Given the description of an element on the screen output the (x, y) to click on. 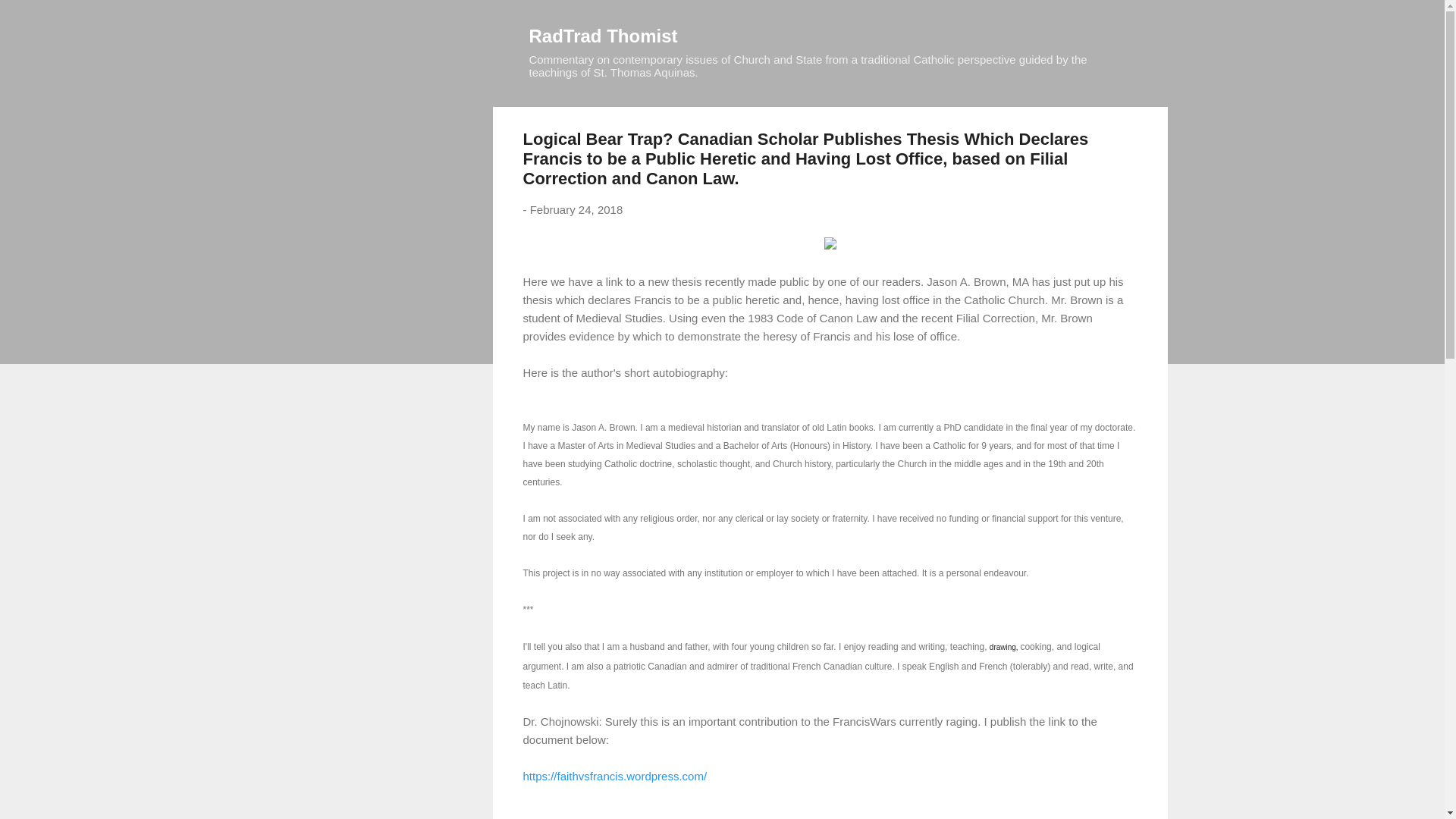
RadTrad Thomist (603, 35)
Search (29, 18)
February 24, 2018 (576, 209)
permanent link (576, 209)
